Given the description of an element on the screen output the (x, y) to click on. 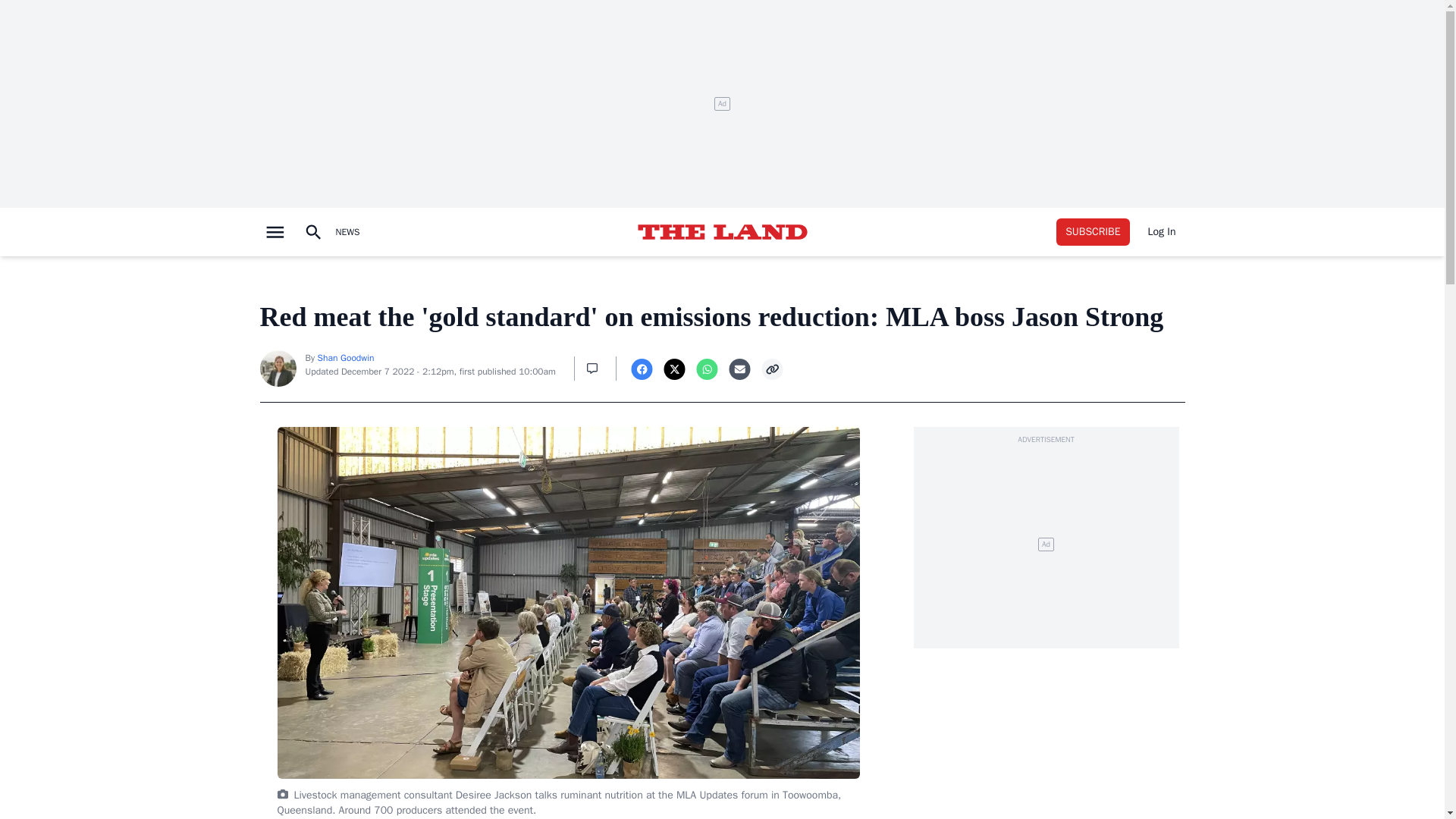
SUBSCRIBE (1093, 231)
Log In (1161, 231)
NEWS (347, 232)
